Given the description of an element on the screen output the (x, y) to click on. 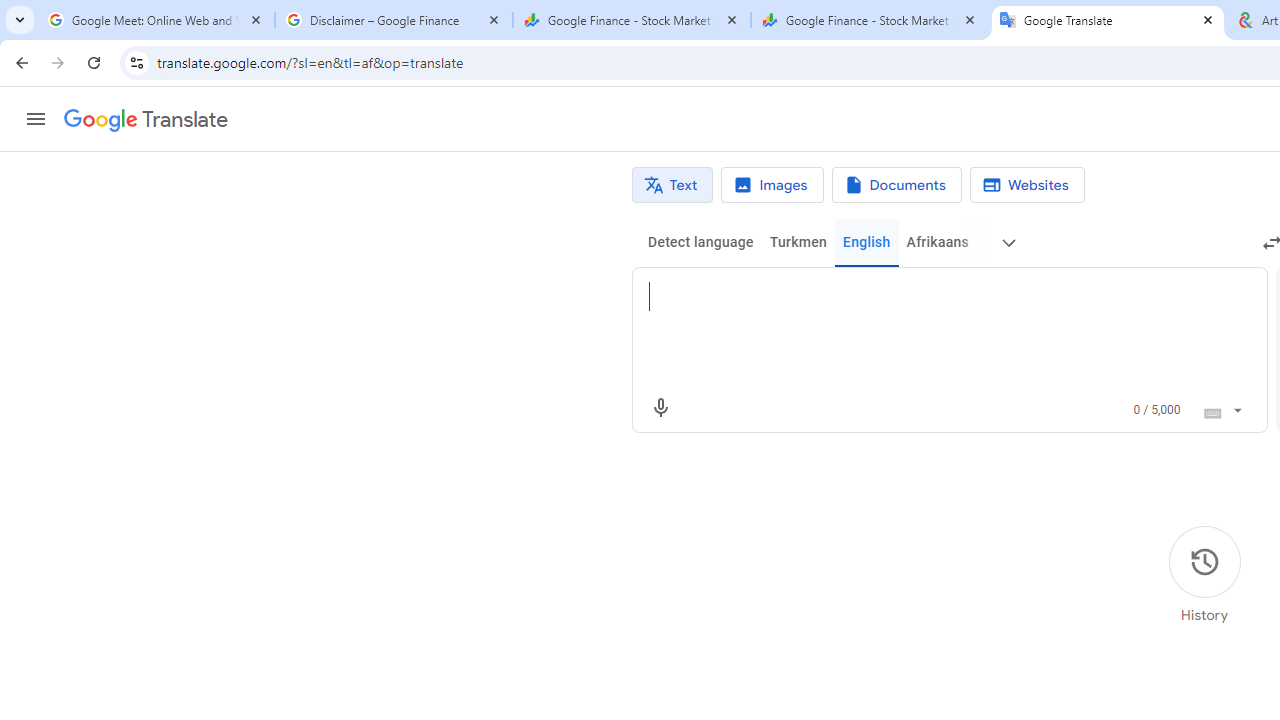
Google Translate (145, 120)
0 of 5,000 characters used (1156, 410)
Text translation (672, 185)
Translate by voice (660, 407)
Turkmen (797, 242)
History (1204, 575)
Show the Input Tools menu (1236, 407)
Source text (930, 295)
